Given the description of an element on the screen output the (x, y) to click on. 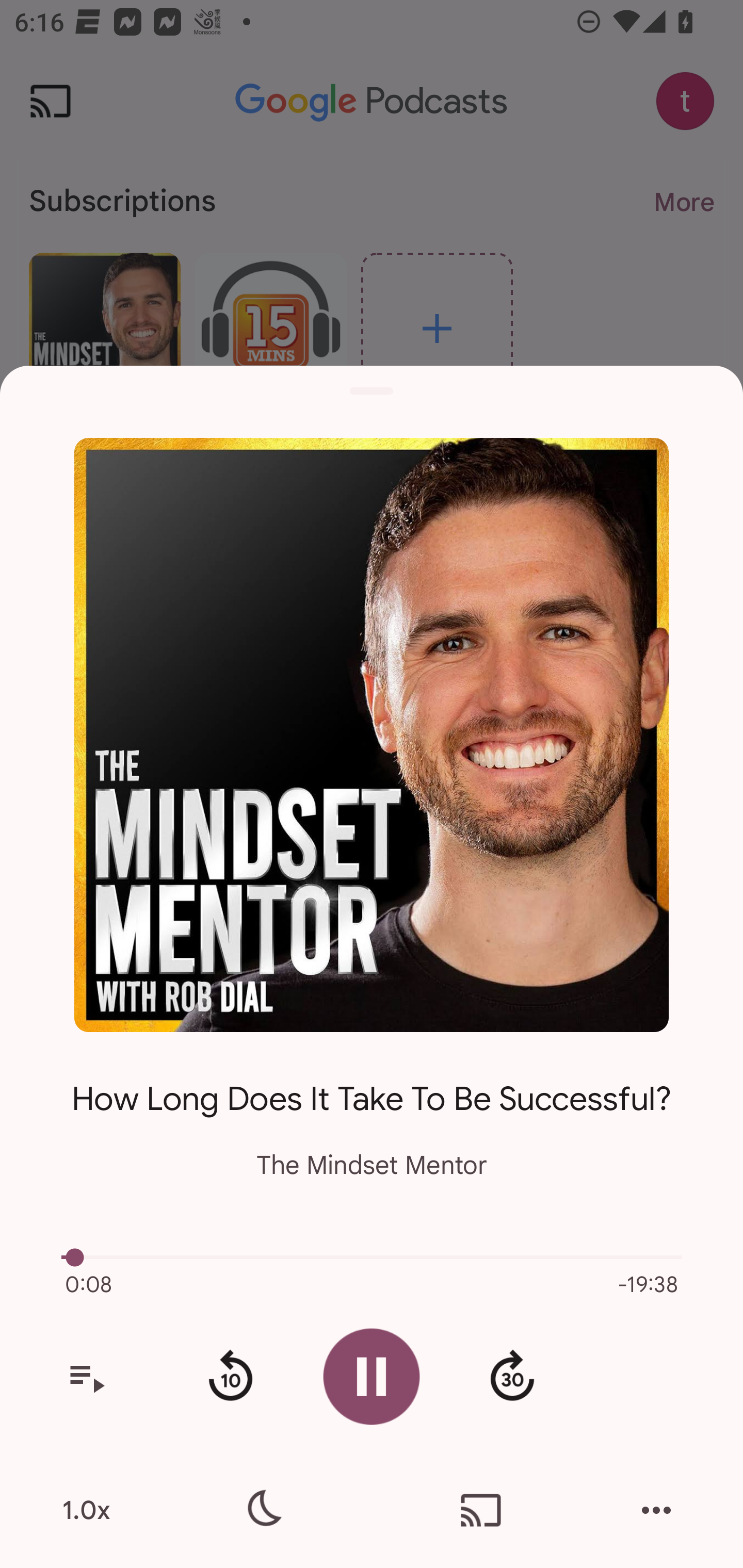
Open the show page for The Mindset Mentor (371, 734)
70.0 Current episode playback (371, 1257)
Pause (371, 1376)
View your queue (86, 1376)
Rewind 10 seconds (230, 1376)
Fast forward 30 second (511, 1376)
1.0x Playback speed is 1.0. (86, 1510)
Sleep timer settings (261, 1510)
Cast. Disconnected (480, 1510)
More actions (655, 1510)
